Given the description of an element on the screen output the (x, y) to click on. 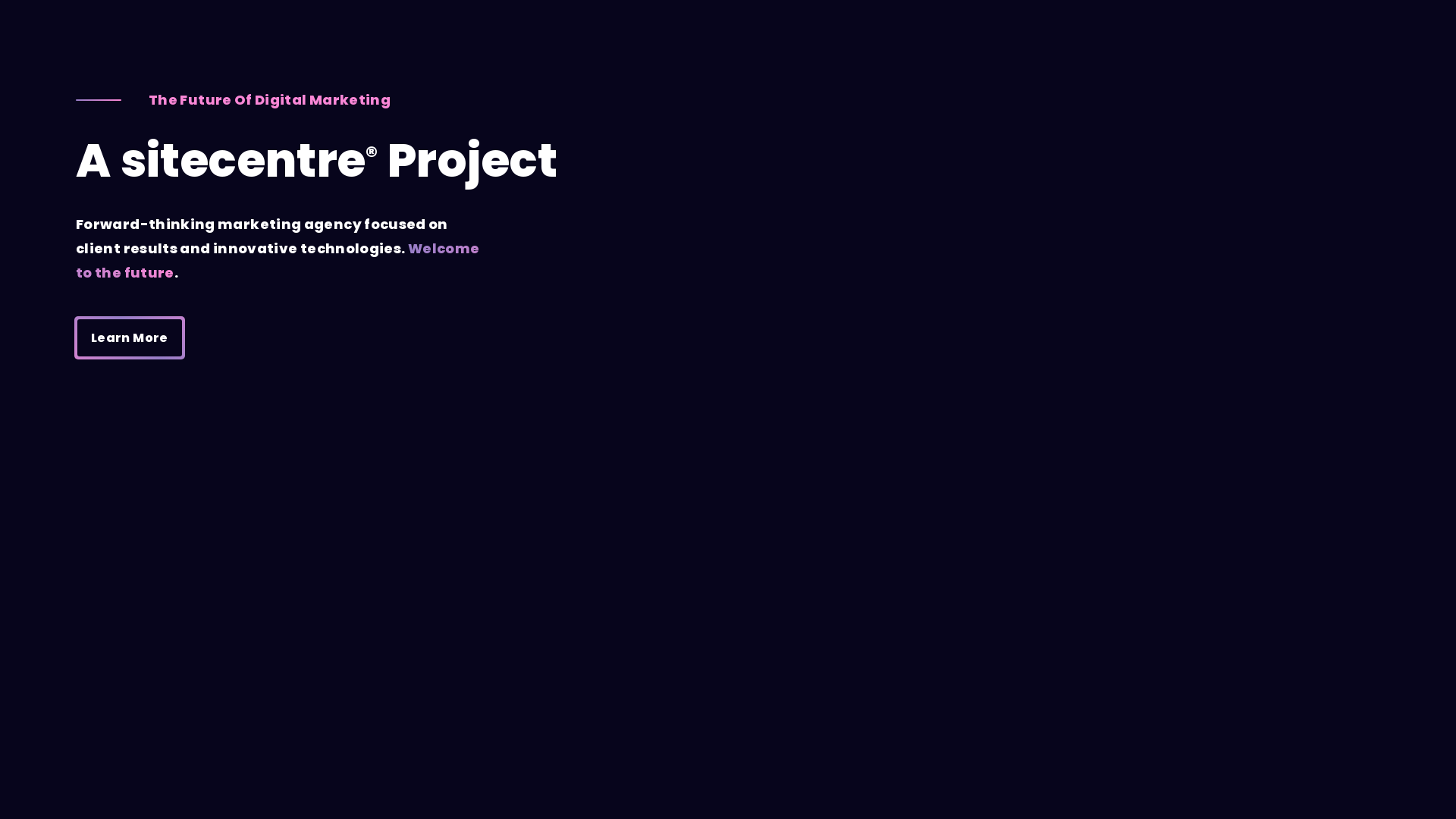
Learn More Element type: text (129, 337)
